Given the description of an element on the screen output the (x, y) to click on. 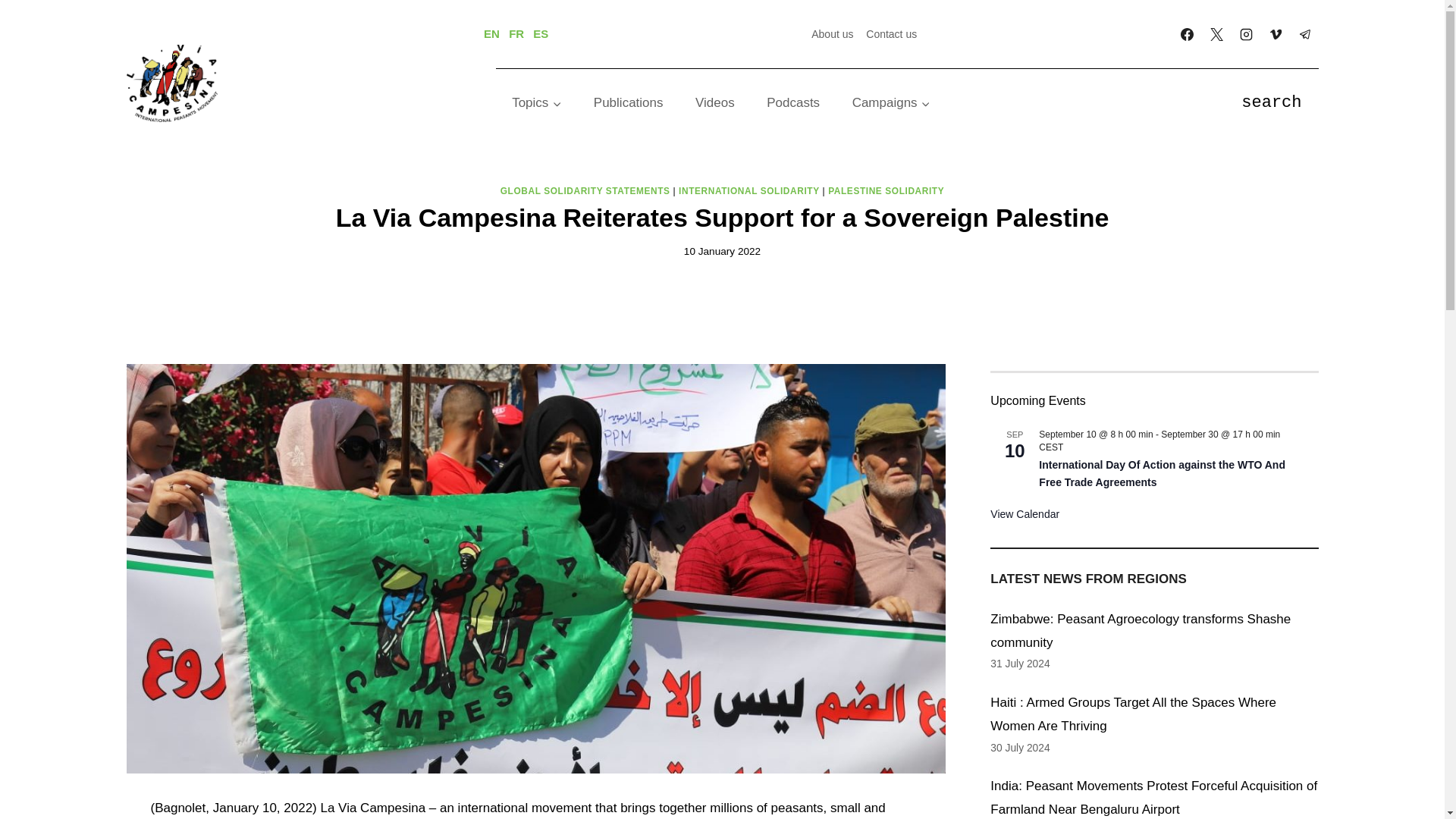
ES (540, 33)
Publications (628, 103)
View more events. (1024, 513)
FR (516, 33)
Contact us (891, 33)
About us (832, 33)
EN (491, 33)
Campaigns (890, 103)
Podcasts (793, 103)
Topics (537, 103)
search (1270, 102)
Videos (715, 103)
